Given the description of an element on the screen output the (x, y) to click on. 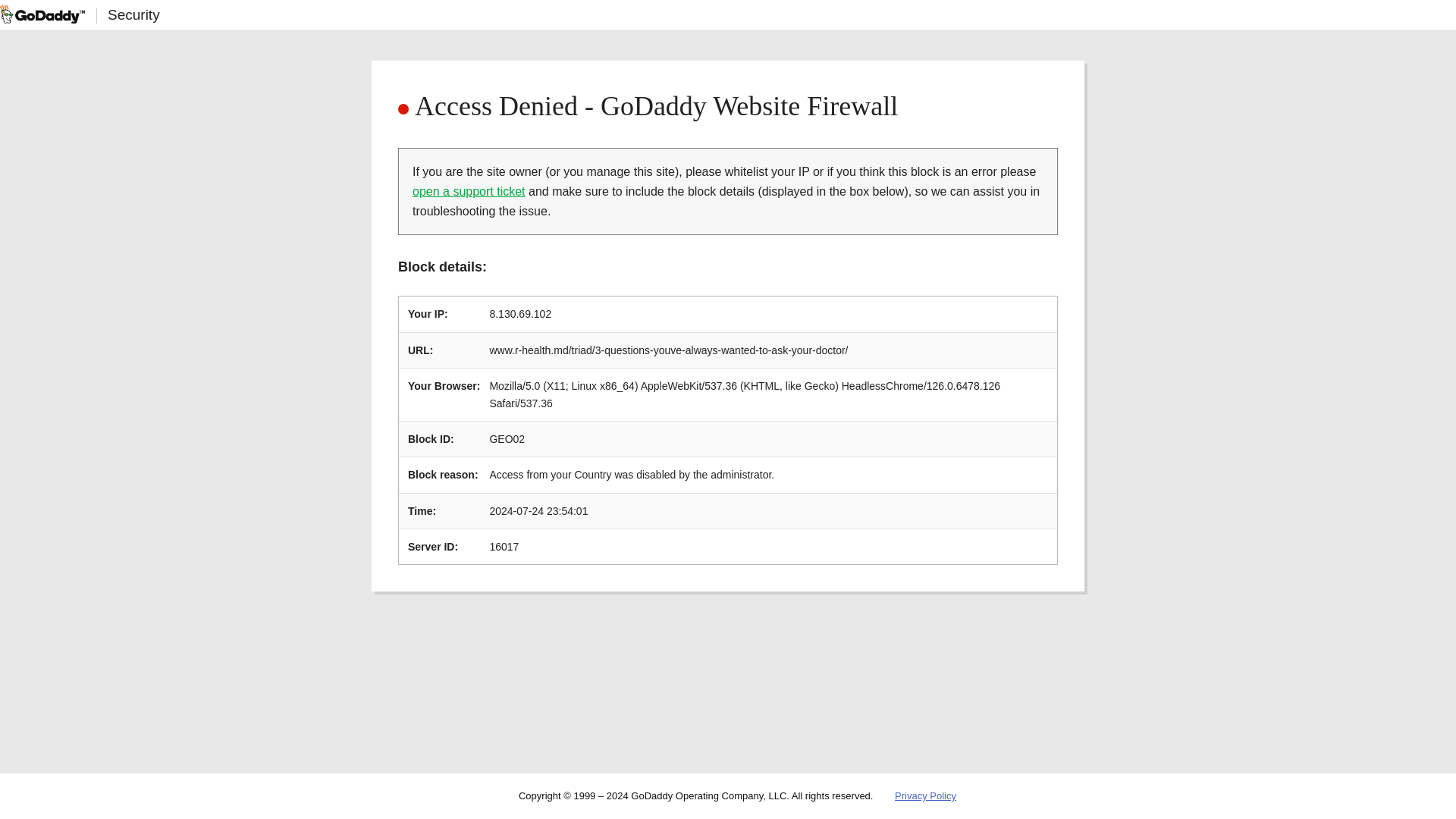
Privacy Policy (925, 795)
open a support ticket (468, 191)
